Given the description of an element on the screen output the (x, y) to click on. 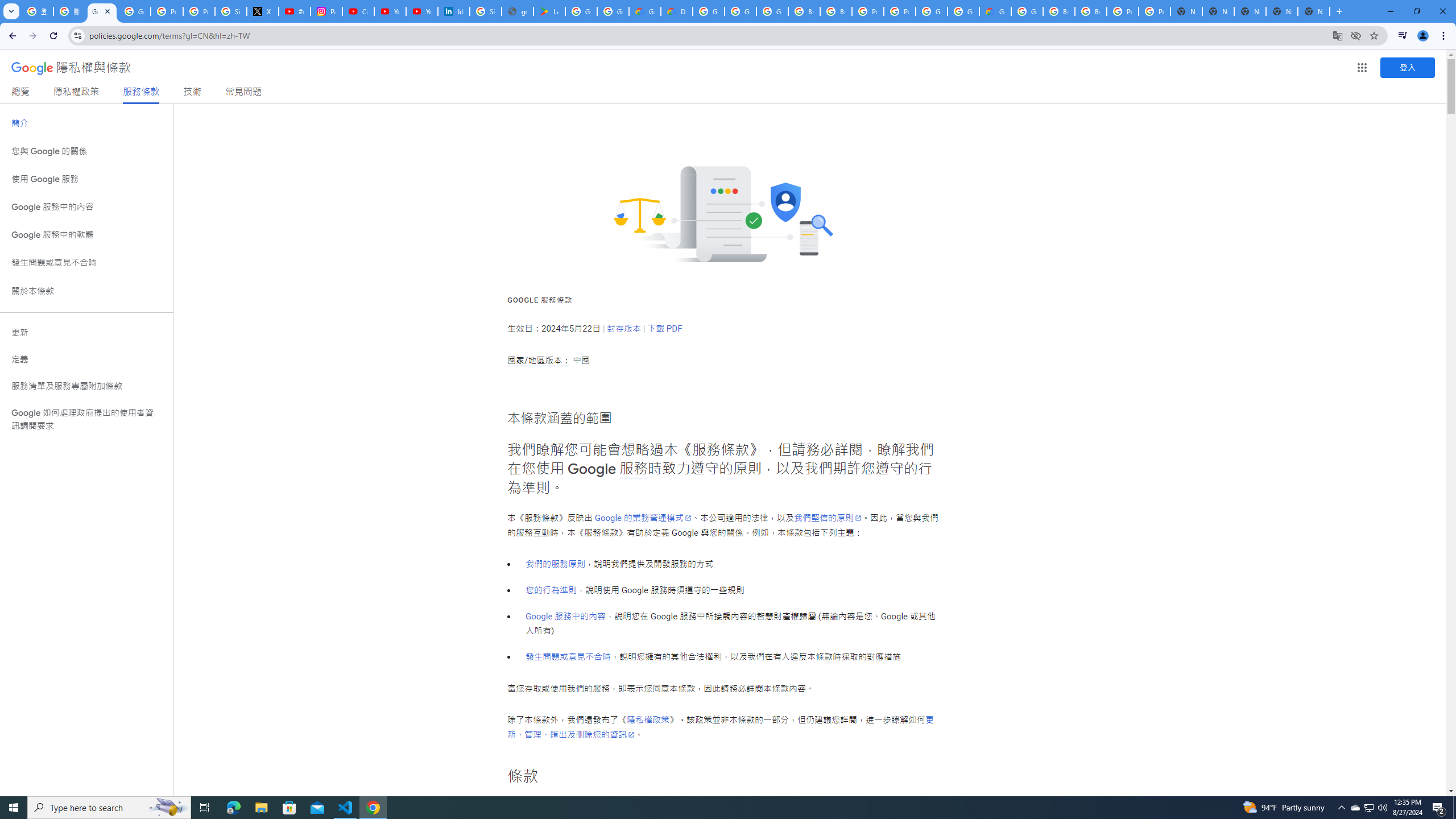
Translate this page (1336, 35)
X (262, 11)
Last Shelter: Survival - Apps on Google Play (549, 11)
